Given the description of an element on the screen output the (x, y) to click on. 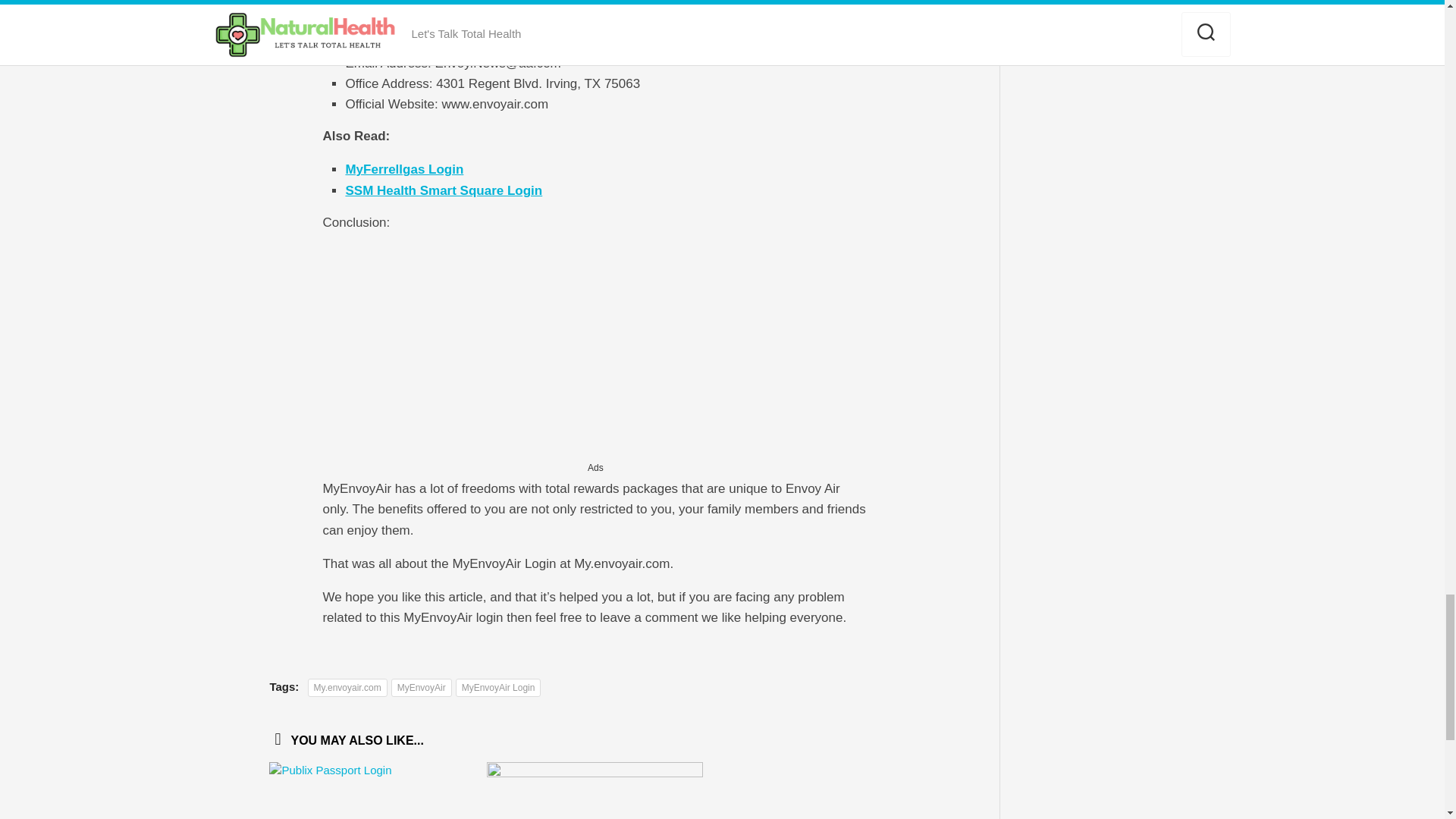
MyEnvoyAir Login (498, 687)
MyFerrellgas Login (404, 169)
My.envoyair.com (347, 687)
MyEnvoyAir (421, 687)
SSM Health Smart Square Login (443, 190)
